Given the description of an element on the screen output the (x, y) to click on. 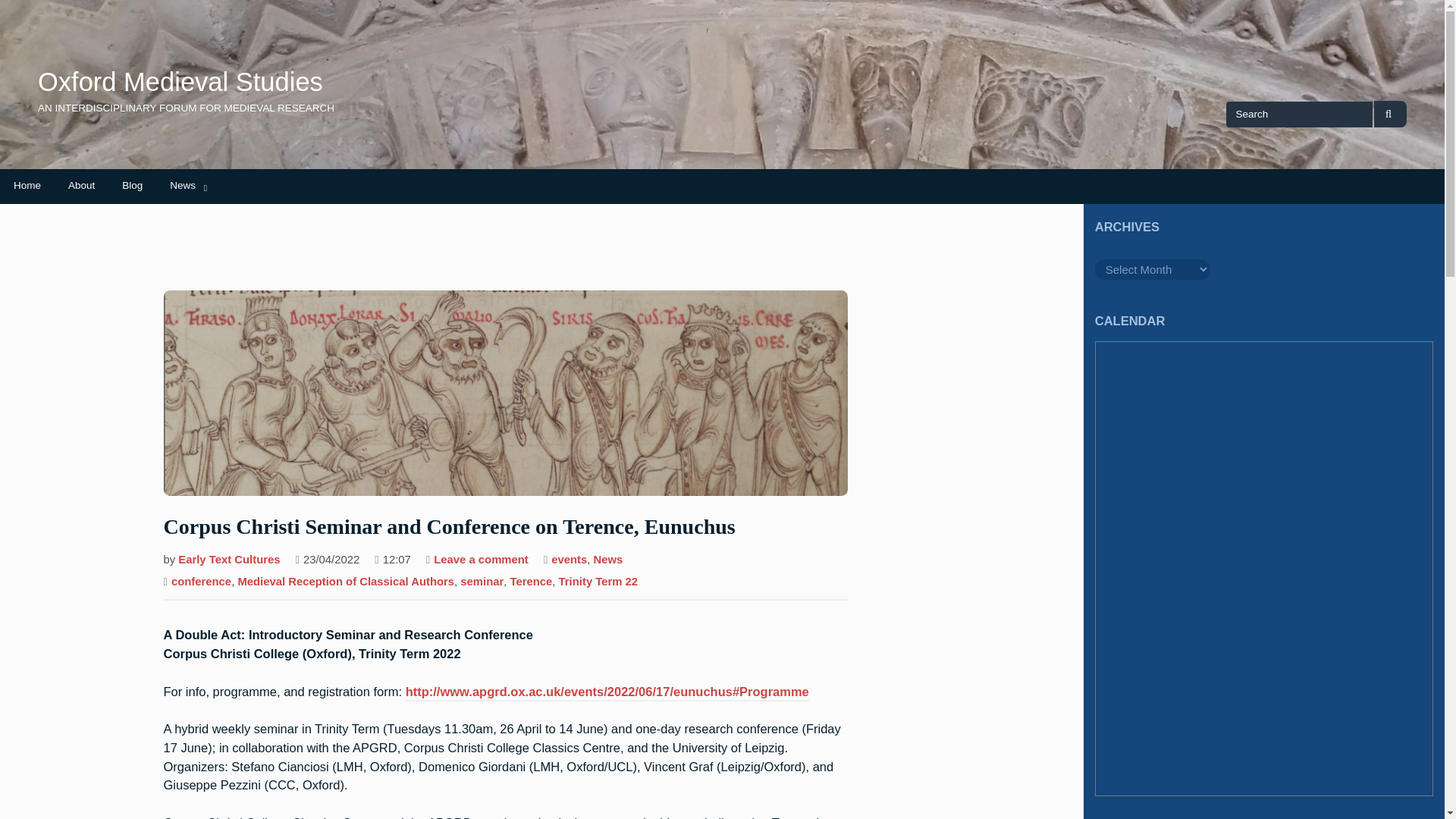
Blog (131, 185)
conference (201, 582)
Early Text Cultures (228, 560)
News (608, 560)
Terence (530, 582)
Posts by Early Text Cultures (228, 560)
Medieval Reception of Classical Authors (345, 582)
Home (27, 185)
News (182, 185)
Search (1390, 113)
About (81, 185)
seminar (481, 582)
Trinity Term 22 (599, 582)
events (568, 560)
